Given the description of an element on the screen output the (x, y) to click on. 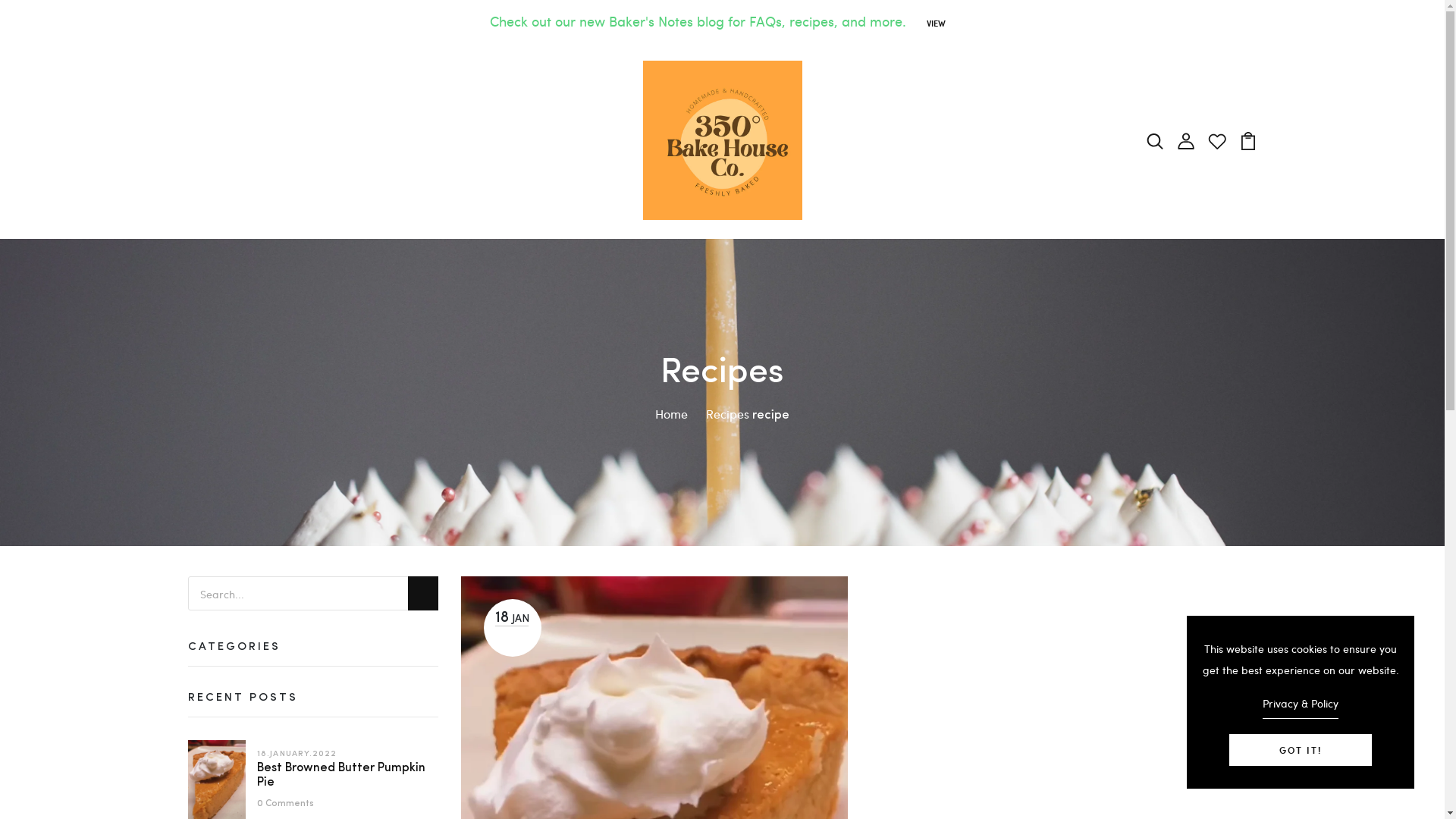
Log In Element type: text (722, 471)
image/svg+xml Element type: text (1248, 139)
register Element type: text (722, 735)
Recipes Element type: text (727, 413)
image/svg+xml Element type: text (1154, 139)
image/svg+xml Element type: text (1185, 139)
GOT IT! Element type: text (1300, 749)
image/svg+xml Element type: text (1216, 139)
Home Element type: text (678, 413)
VIEW Element type: text (935, 22)
Best Browned Butter Pumpkin Pie Element type: text (341, 775)
Privacy & Policy Element type: text (1300, 705)
